Given the description of an element on the screen output the (x, y) to click on. 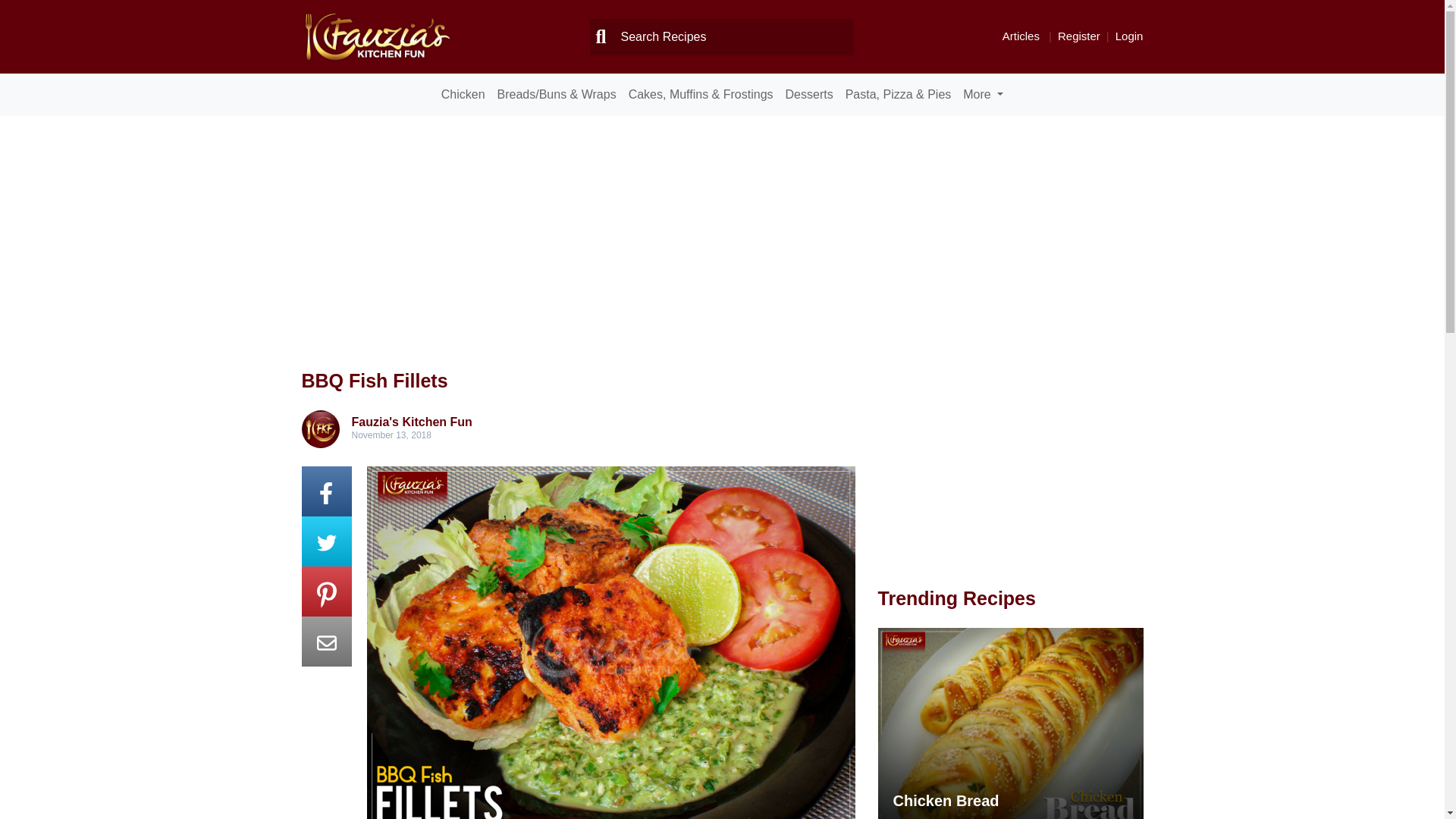
Desserts (809, 94)
Register (1079, 35)
Advertisement (1004, 475)
Articles (1021, 35)
More (982, 94)
Chicken (463, 94)
Login (1128, 35)
Desserts (809, 94)
Chicken (463, 94)
